Given the description of an element on the screen output the (x, y) to click on. 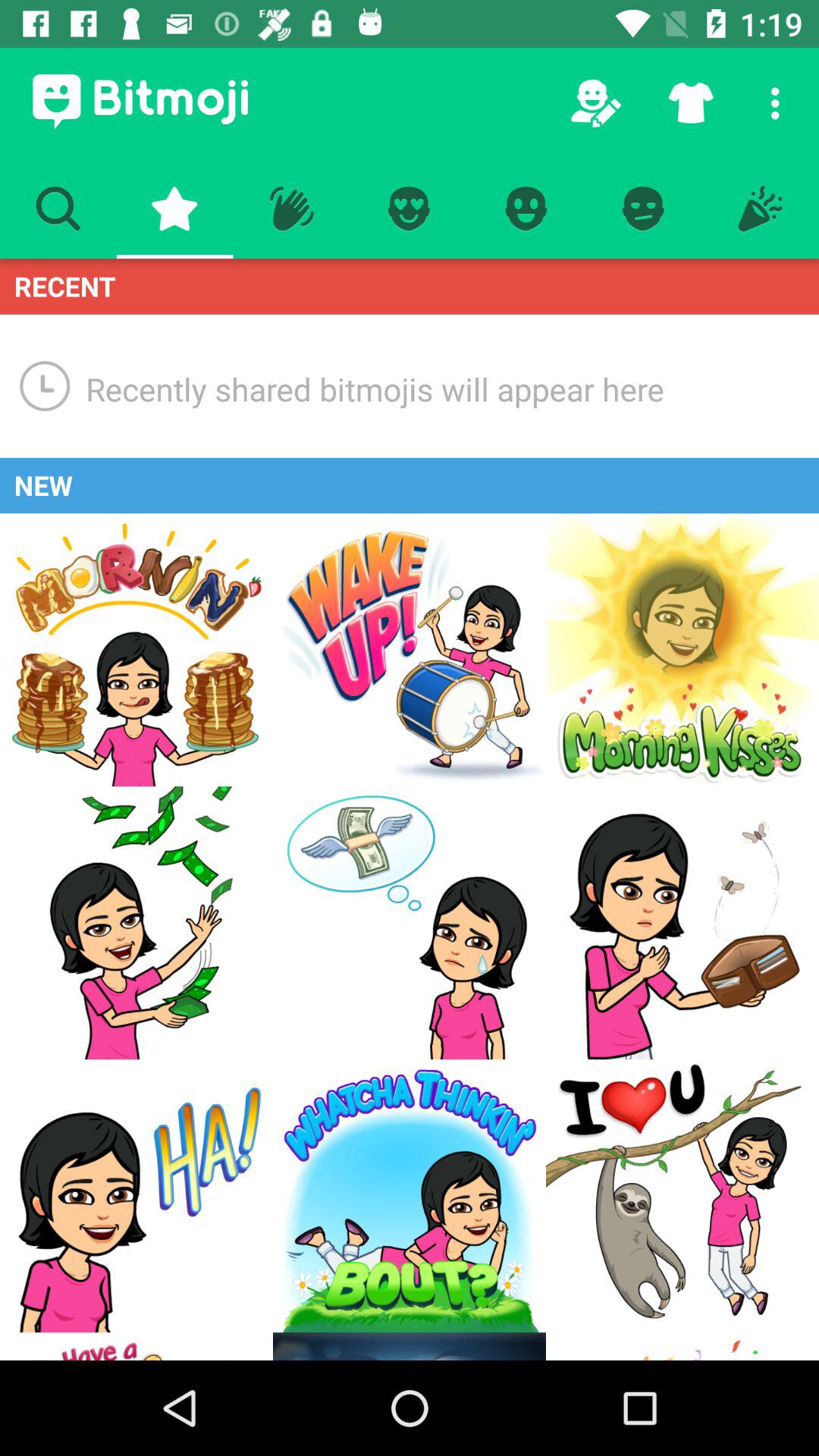
select emoji (409, 1195)
